Given the description of an element on the screen output the (x, y) to click on. 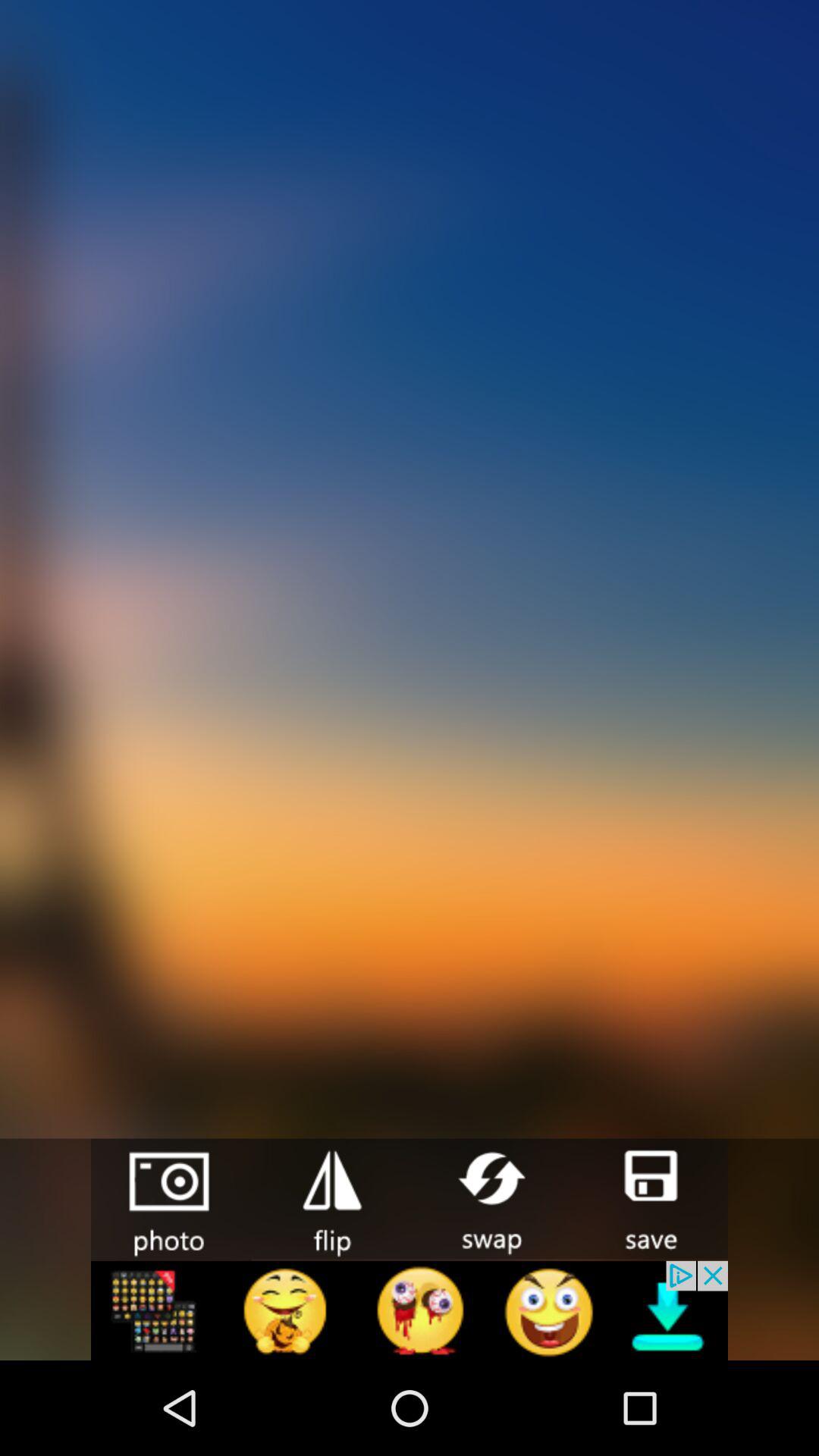
take photo (171, 1199)
